Given the description of an element on the screen output the (x, y) to click on. 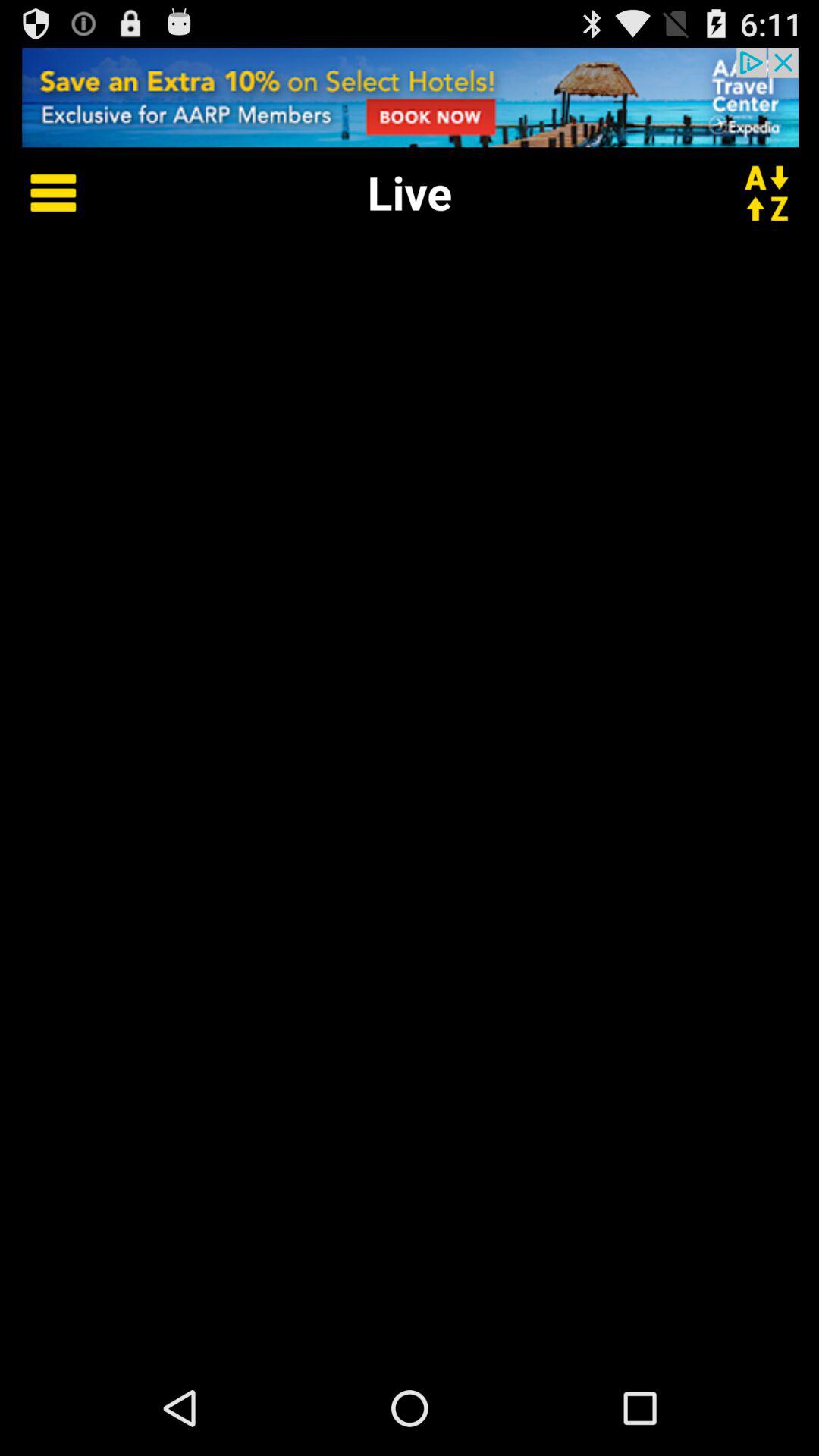
open settings (42, 192)
